Given the description of an element on the screen output the (x, y) to click on. 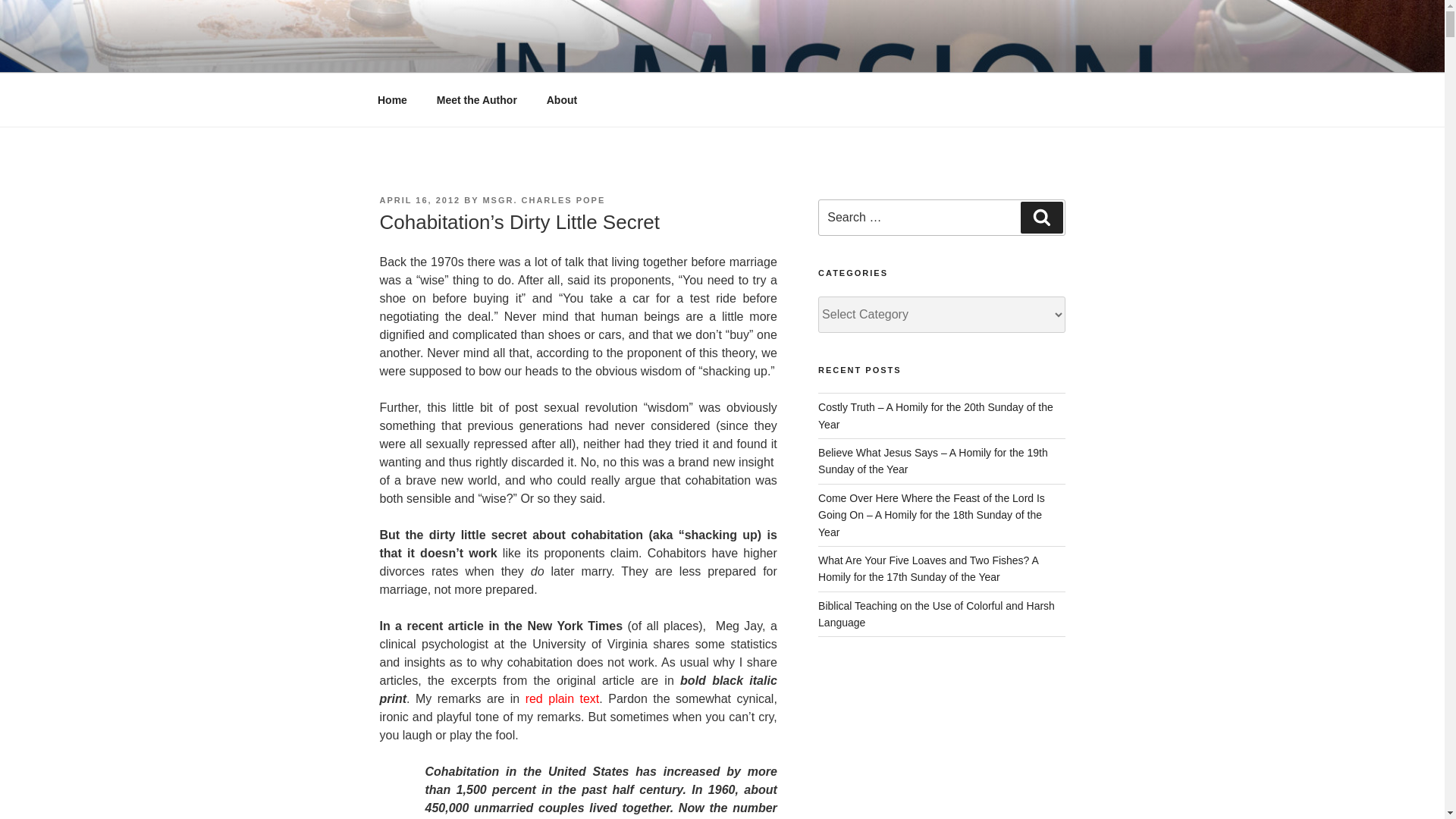
About (560, 99)
APRIL 16, 2012 (419, 199)
Meet the Author (476, 99)
MSGR. CHARLES POPE (543, 199)
Home (392, 99)
COMMUNITY IN MISSION (563, 52)
